Given the description of an element on the screen output the (x, y) to click on. 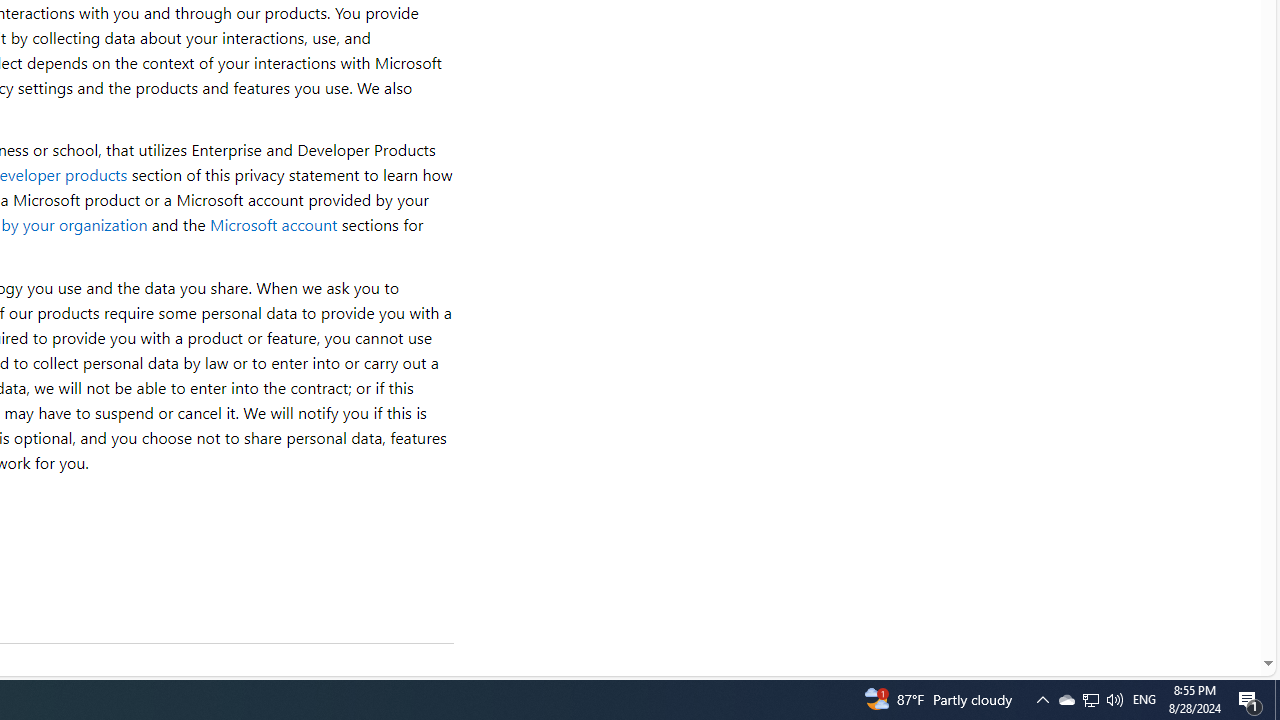
Microsoft account (273, 224)
